Given the description of an element on the screen output the (x, y) to click on. 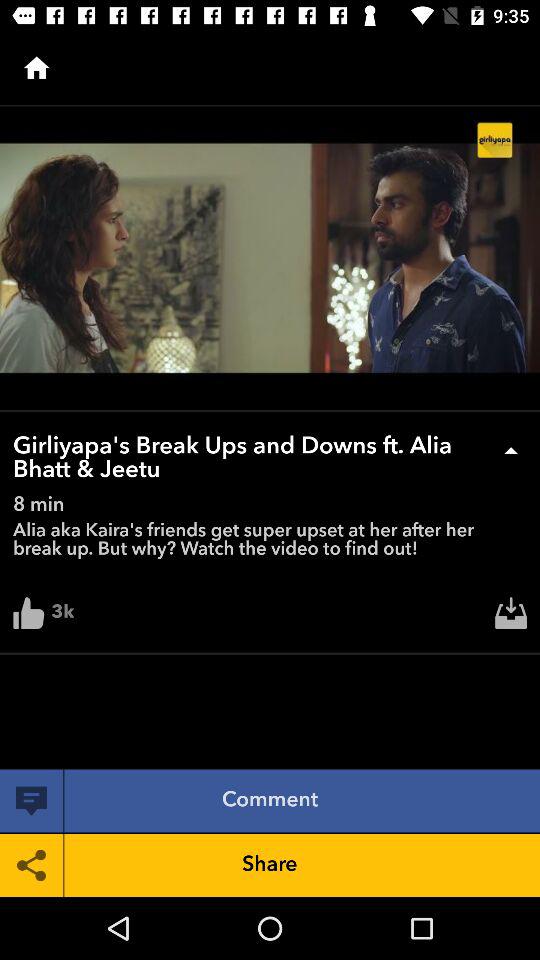
turn off the icon at the top left corner (36, 68)
